Given the description of an element on the screen output the (x, y) to click on. 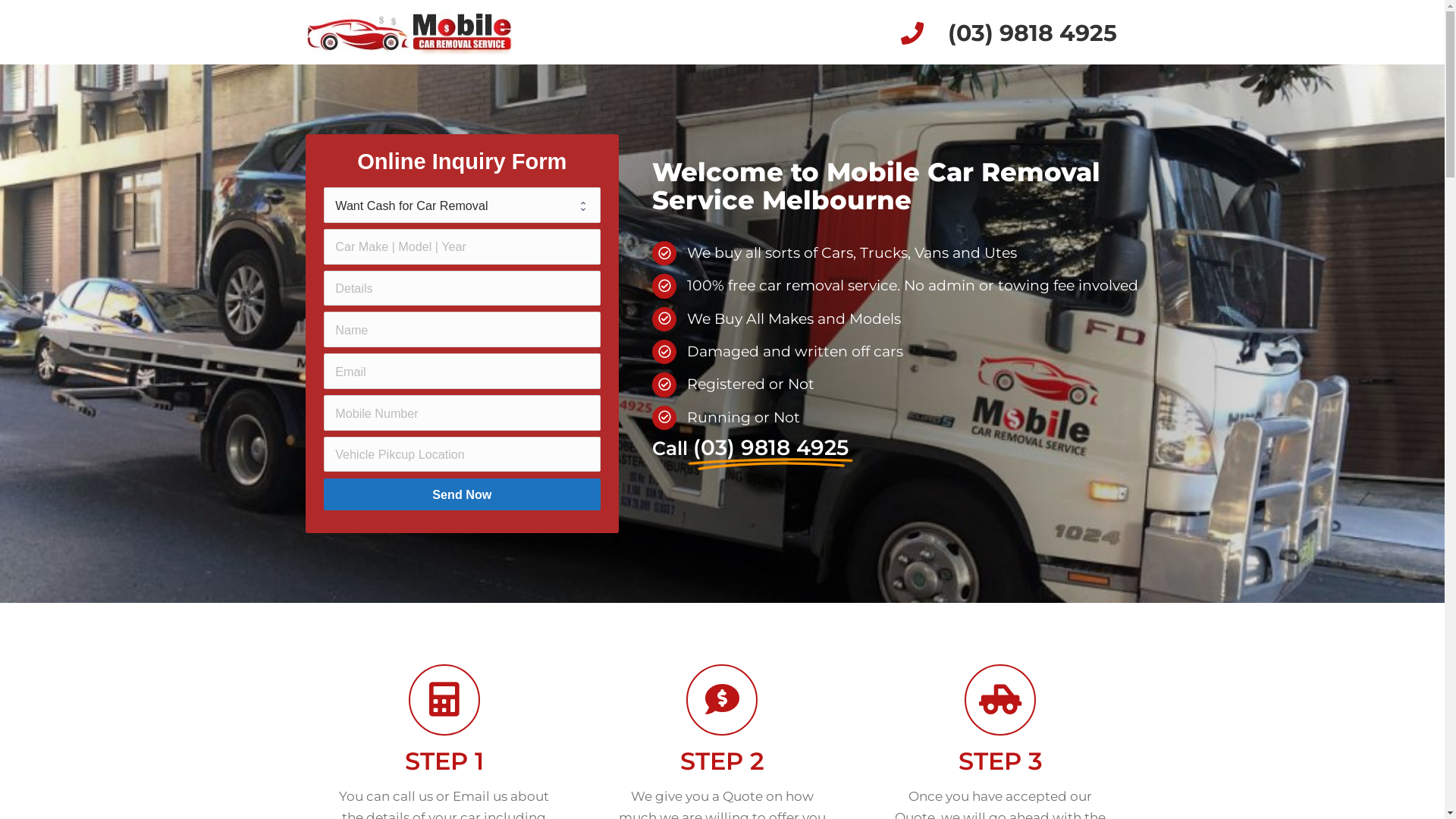
Send Now Element type: text (461, 493)
(03) 9818 4925 Element type: text (1032, 32)
